Given the description of an element on the screen output the (x, y) to click on. 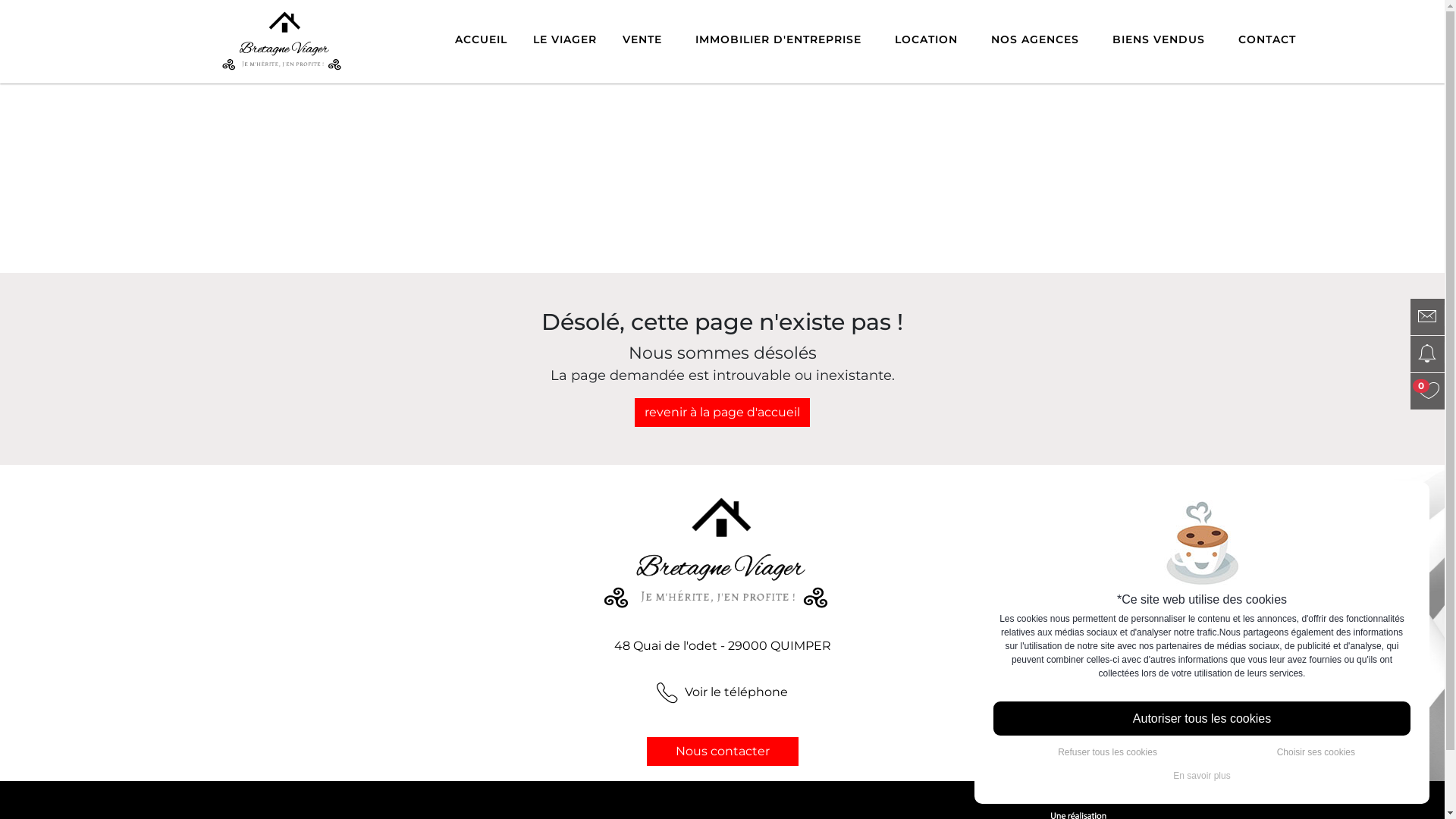
Choisir ses cookies Element type: text (1316, 752)
NOS AGENCES Element type: text (1034, 39)
Bretagne Viager Element type: hover (284, 31)
Refuser tous les cookies Element type: text (1107, 752)
En savoir plus Element type: text (1201, 775)
ACCUEIL Element type: text (480, 39)
CONTACT Element type: text (1266, 39)
Nous contacter Element type: text (721, 751)
BIENS VENDUS Element type: text (1158, 39)
VENTE Element type: text (642, 39)
IMMOBILIER D'ENTREPRISE Element type: text (778, 39)
Autoriser tous les cookies Element type: text (1201, 718)
LOCATION Element type: text (926, 39)
